Given the description of an element on the screen output the (x, y) to click on. 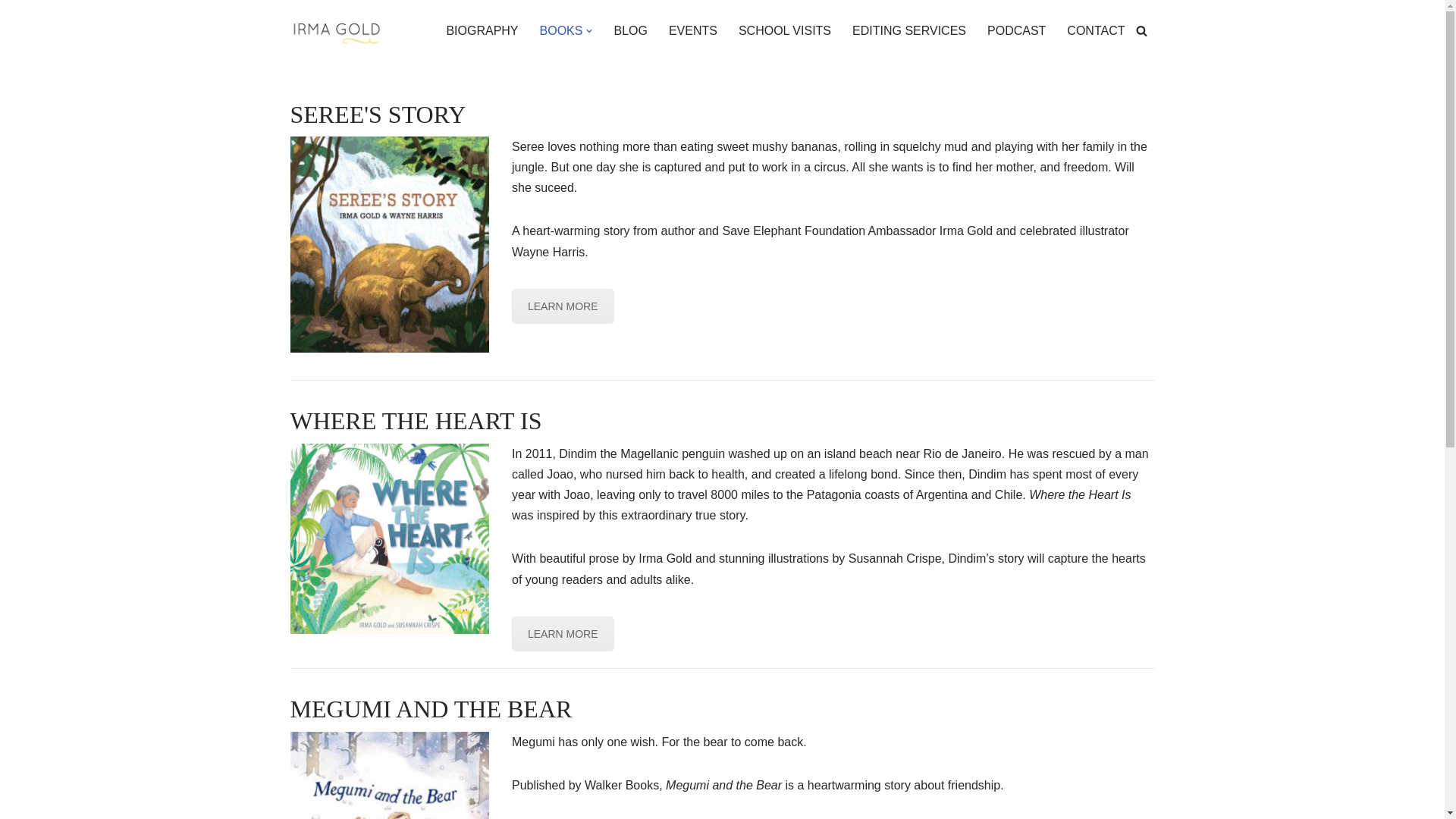
EDITING SERVICES (908, 30)
BLOG (629, 30)
BIOGRAPHY (481, 30)
Where the Heart Is cover final (389, 538)
LEARN MORE (563, 306)
SCHOOL VISITS (784, 30)
EVENTS (692, 30)
Seree's Story cover (389, 244)
LEARN MORE (563, 633)
CONTACT (1095, 30)
